Given the description of an element on the screen output the (x, y) to click on. 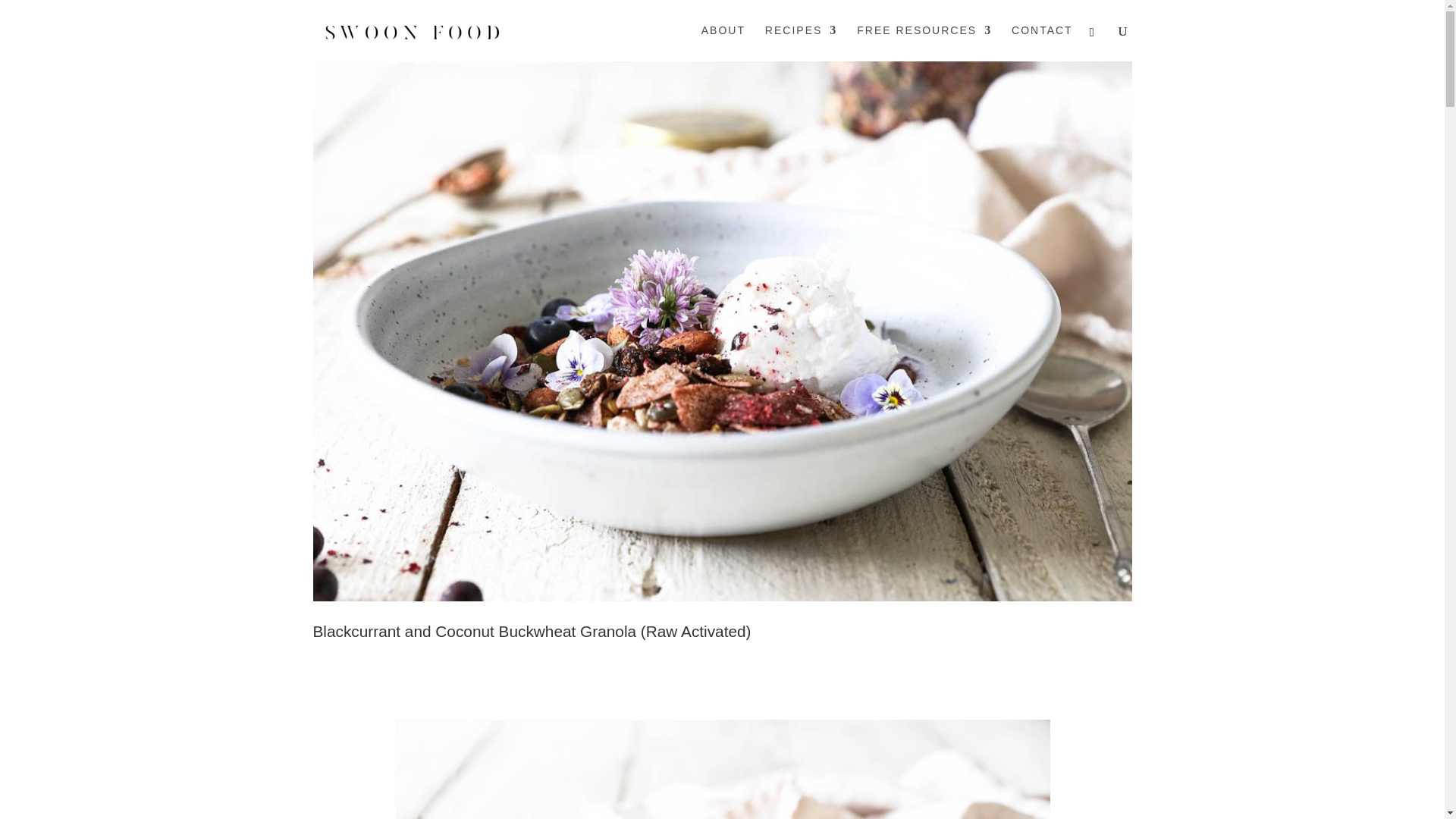
FREE RESOURCES (924, 42)
CONTACT (1042, 42)
RECIPES (801, 42)
ABOUT (723, 42)
